Given the description of an element on the screen output the (x, y) to click on. 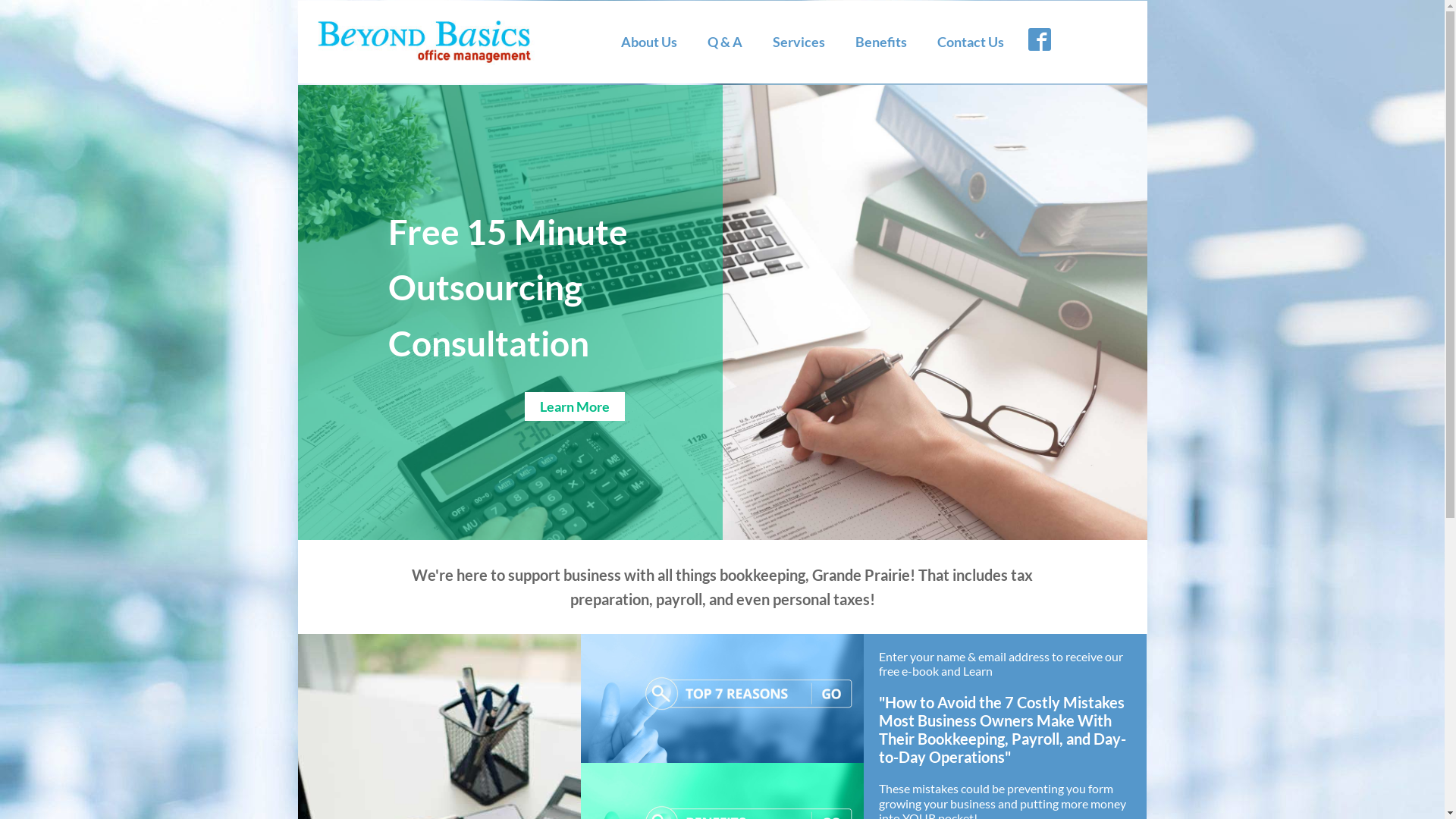
Services Element type: text (798, 41)
Learn More Element type: text (574, 406)
Q & A Element type: text (724, 41)
About Us Element type: text (648, 41)
Contact Us Element type: text (970, 41)
Benefits Element type: text (881, 41)
